Given the description of an element on the screen output the (x, y) to click on. 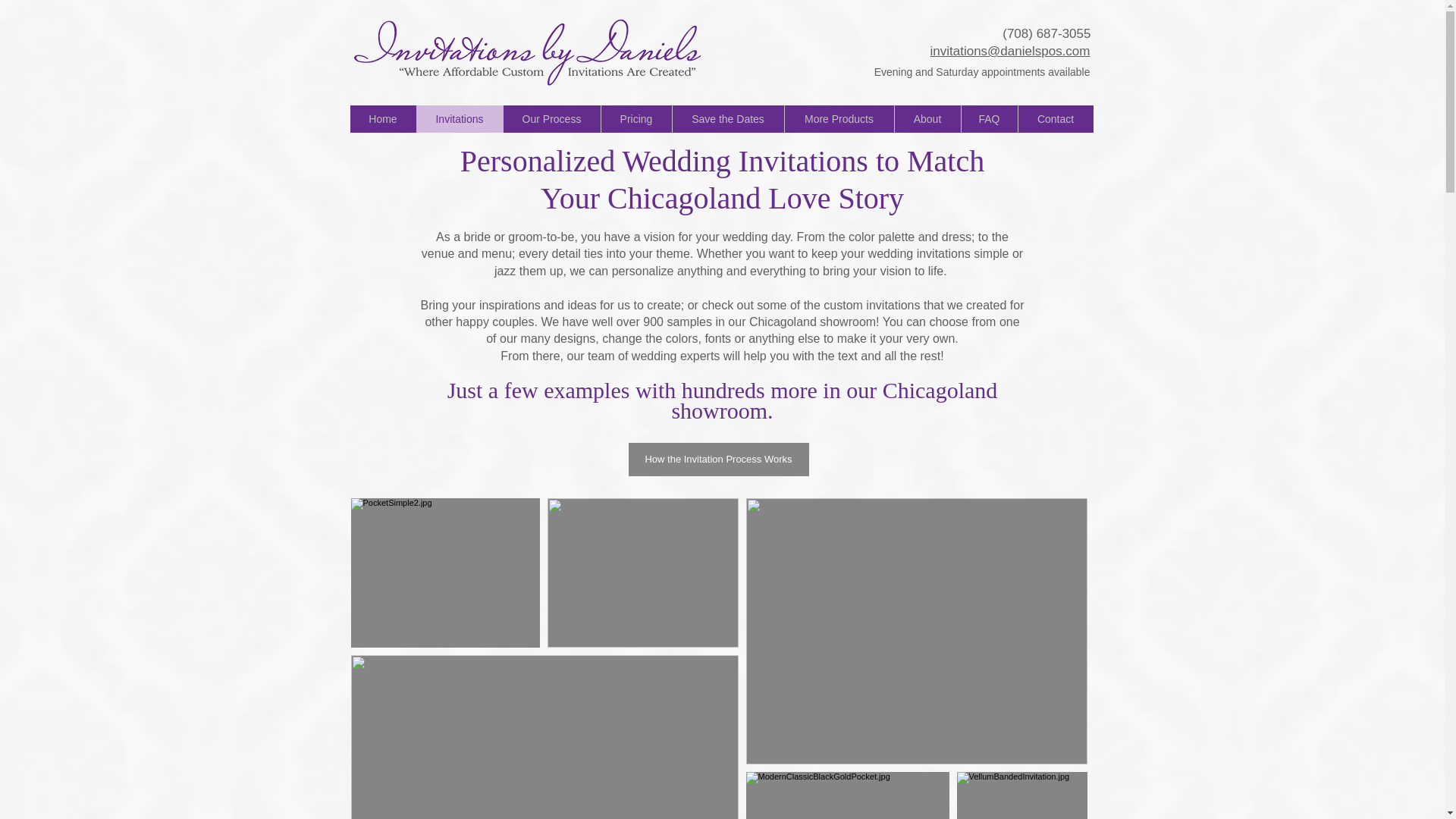
Our Process (550, 118)
Invitations (458, 118)
FAQ (987, 118)
Home (383, 118)
About (926, 118)
Save the Dates (727, 118)
Pricing (635, 118)
Contact (1055, 118)
How the Invitation Process Works (717, 459)
